Given the description of an element on the screen output the (x, y) to click on. 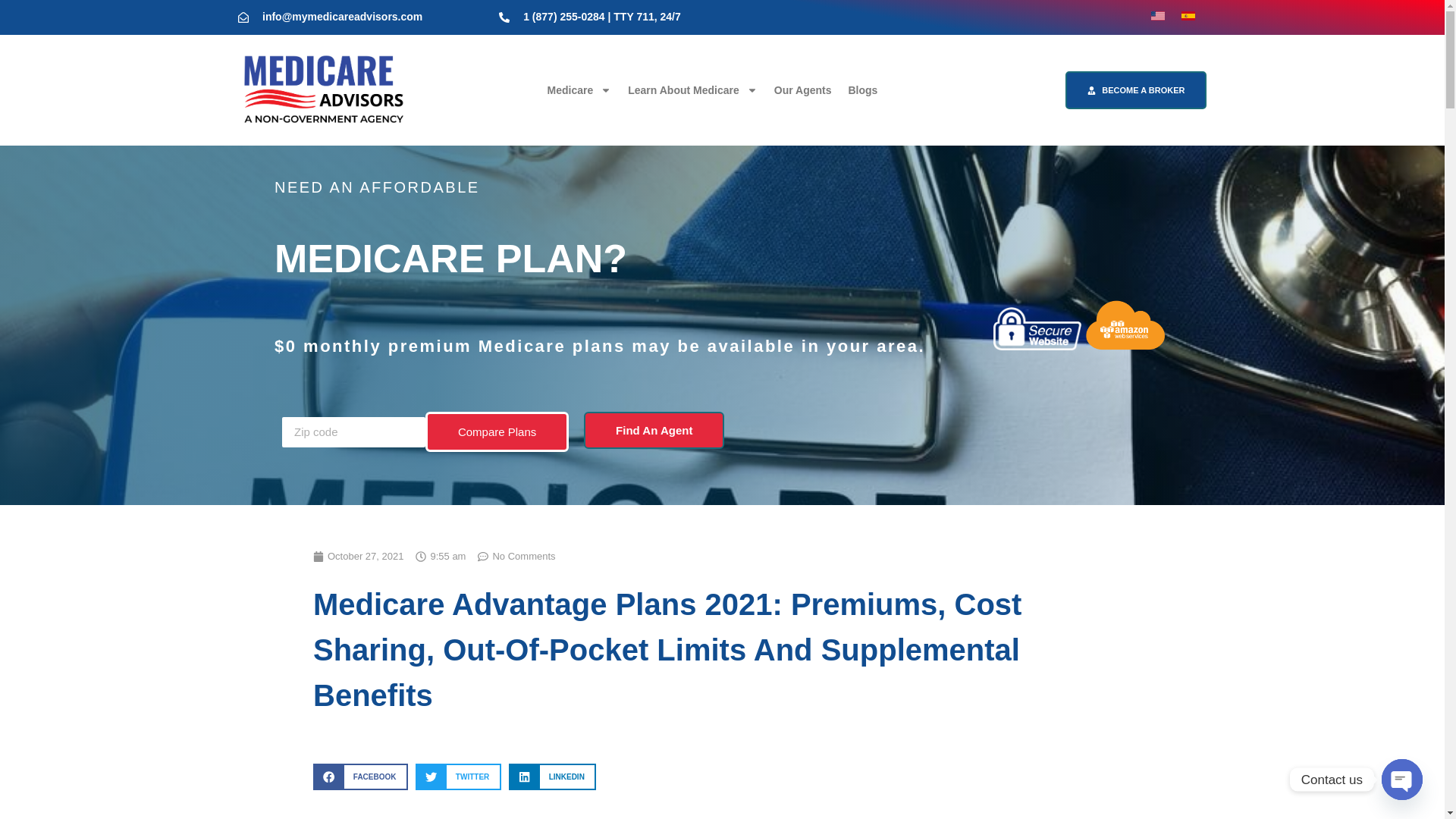
BECOME A BROKER (1136, 90)
Blogs (862, 89)
Our Agents (802, 89)
Learn About Medicare (692, 89)
Medicare (579, 89)
No Comments (515, 556)
Find An Agent (653, 429)
Compare Plans (497, 431)
October 27, 2021 (358, 556)
